Given the description of an element on the screen output the (x, y) to click on. 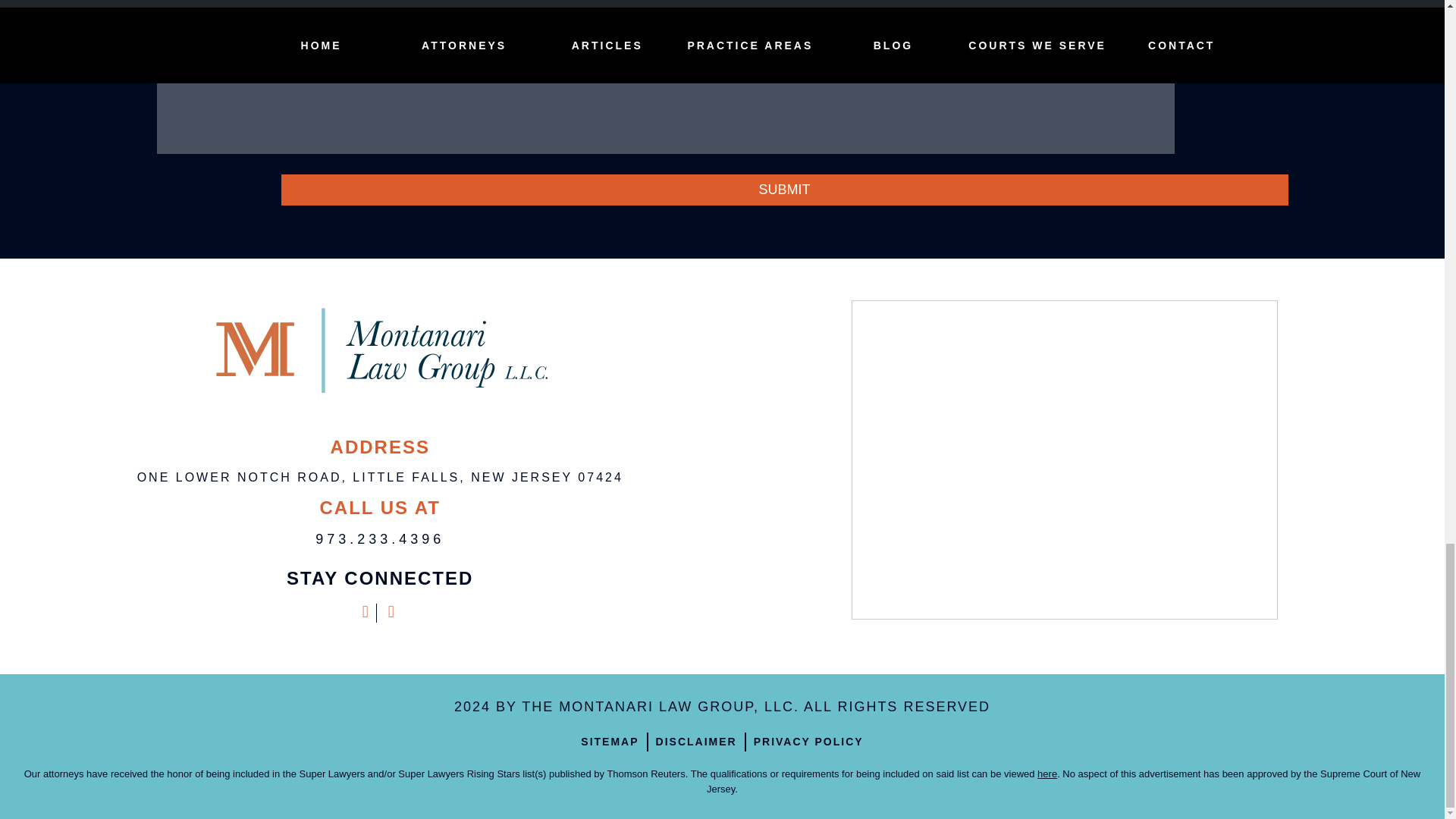
Submit (784, 189)
